Given the description of an element on the screen output the (x, y) to click on. 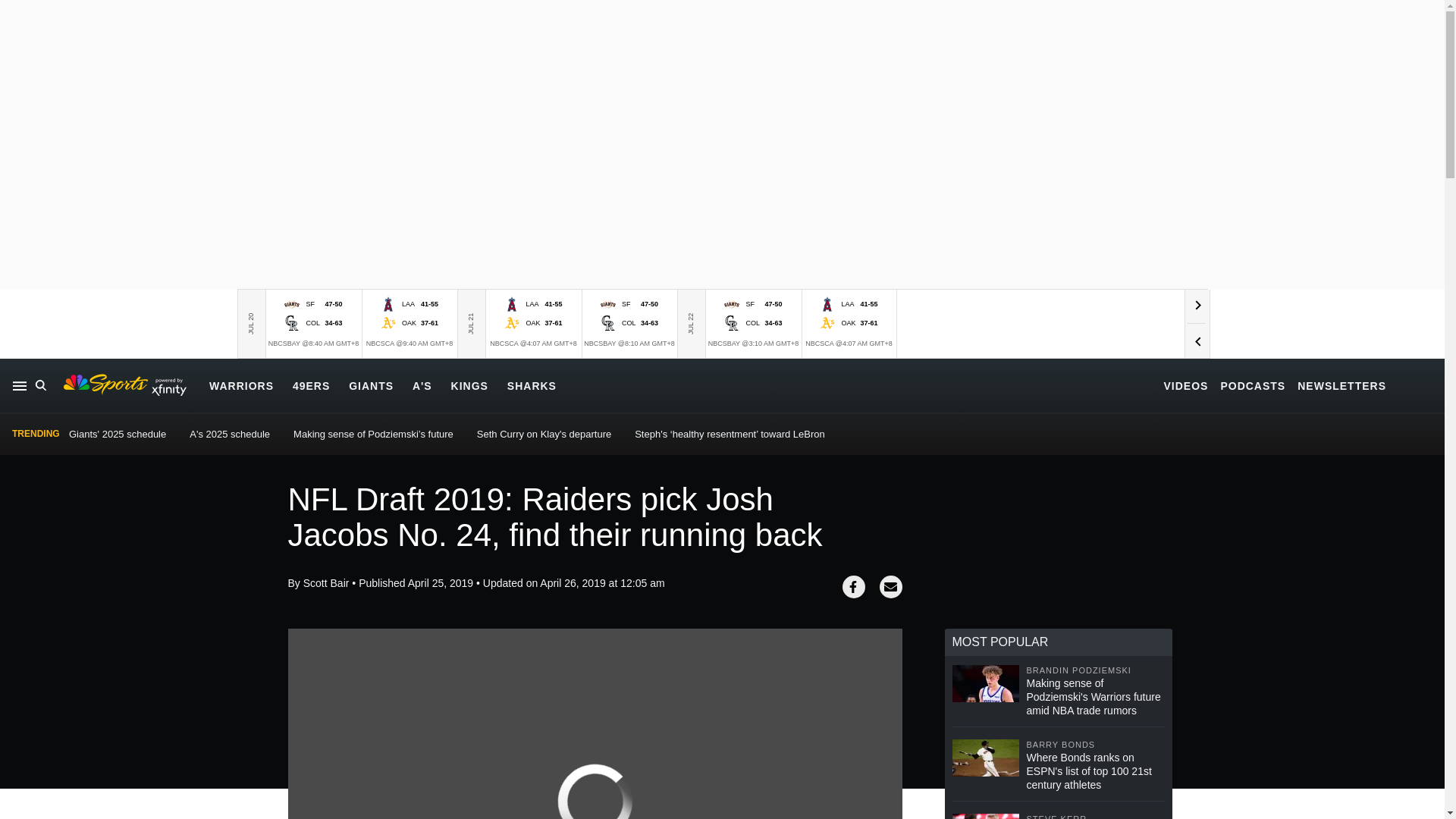
49ERS (311, 385)
WARRIORS (241, 385)
A'S (422, 385)
PODCASTS (1252, 385)
VIDEOS (1185, 385)
KINGS (469, 385)
SHARKS (531, 385)
Seth Curry on Klay's departure (544, 433)
GIANTS (371, 385)
A's 2025 schedule (229, 433)
Giants' 2025 schedule (116, 433)
Scott Bair (325, 582)
NEWSLETTERS (1341, 385)
